Given the description of an element on the screen output the (x, y) to click on. 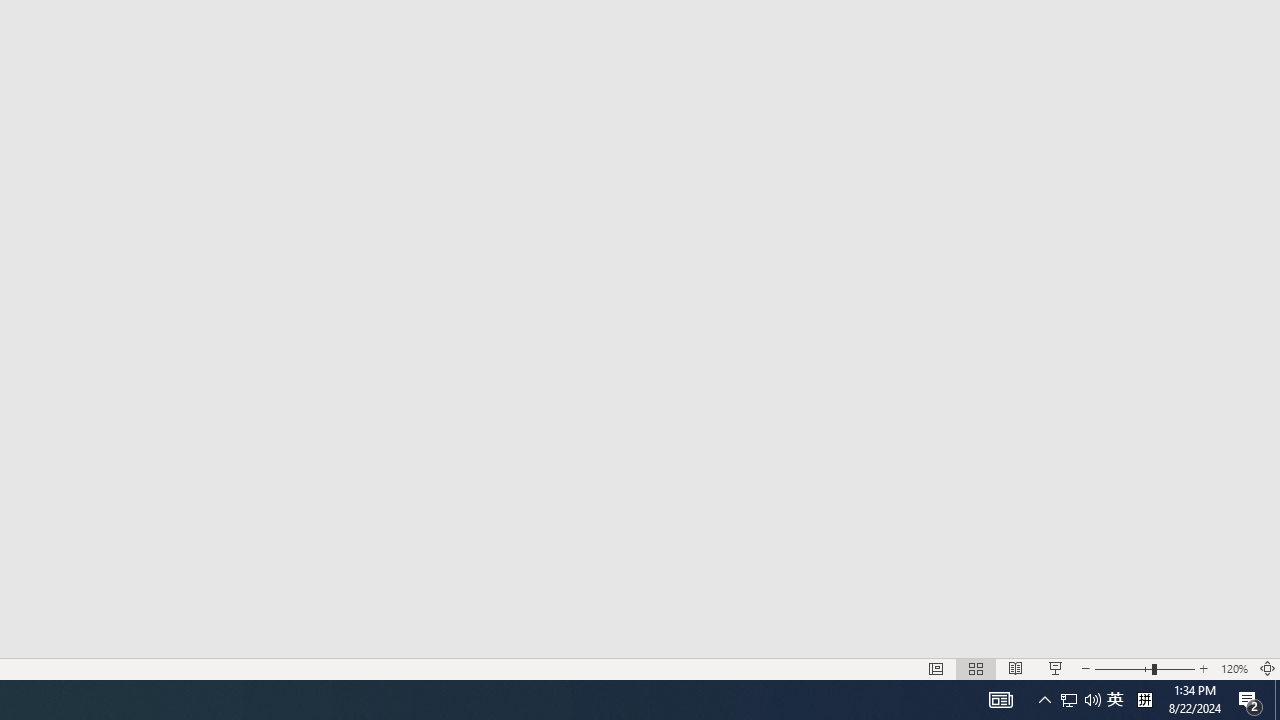
Zoom 120% (1234, 668)
